Given the description of an element on the screen output the (x, y) to click on. 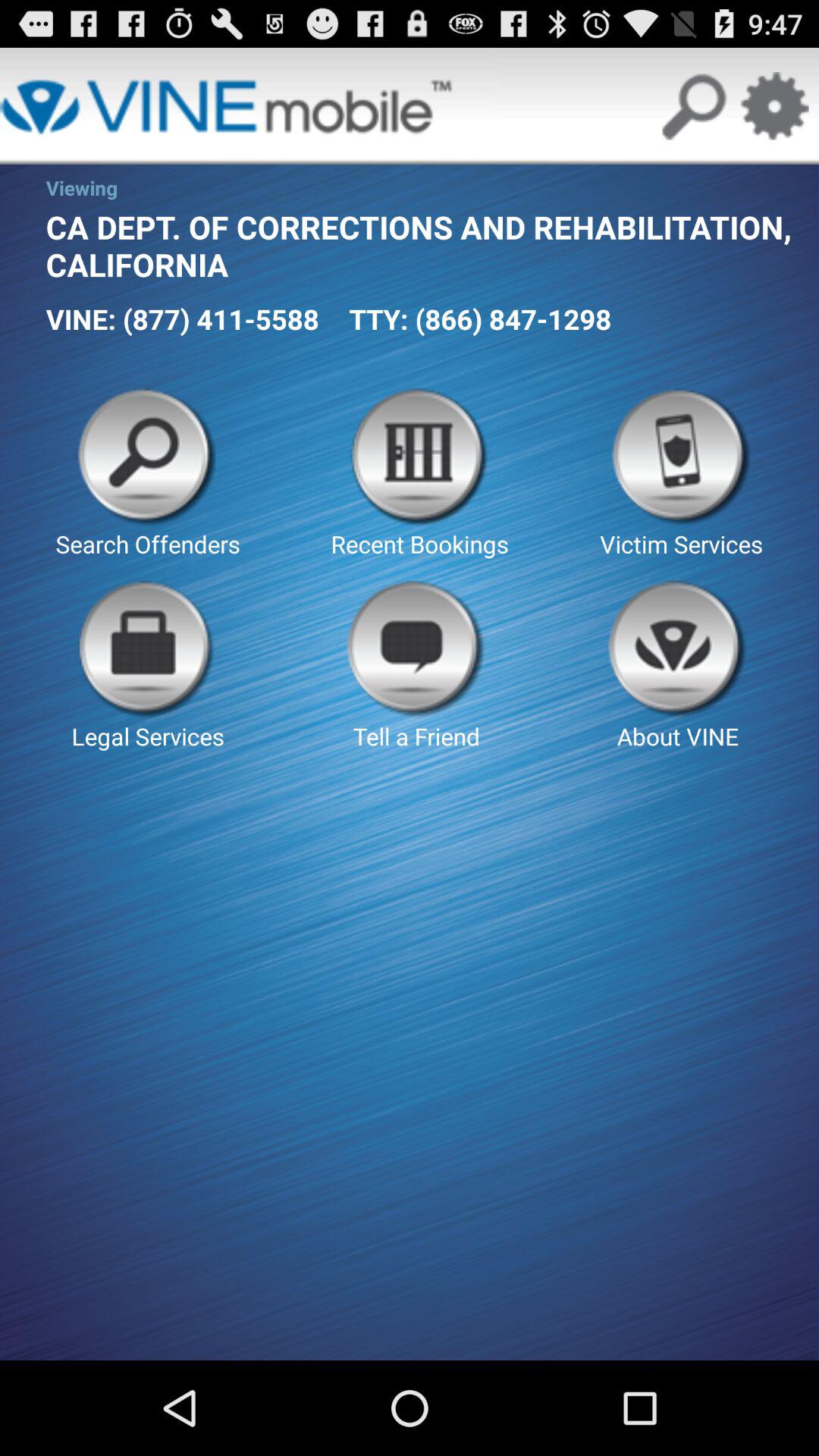
turn off the icon below ca dept of (182, 318)
